Given the description of an element on the screen output the (x, y) to click on. 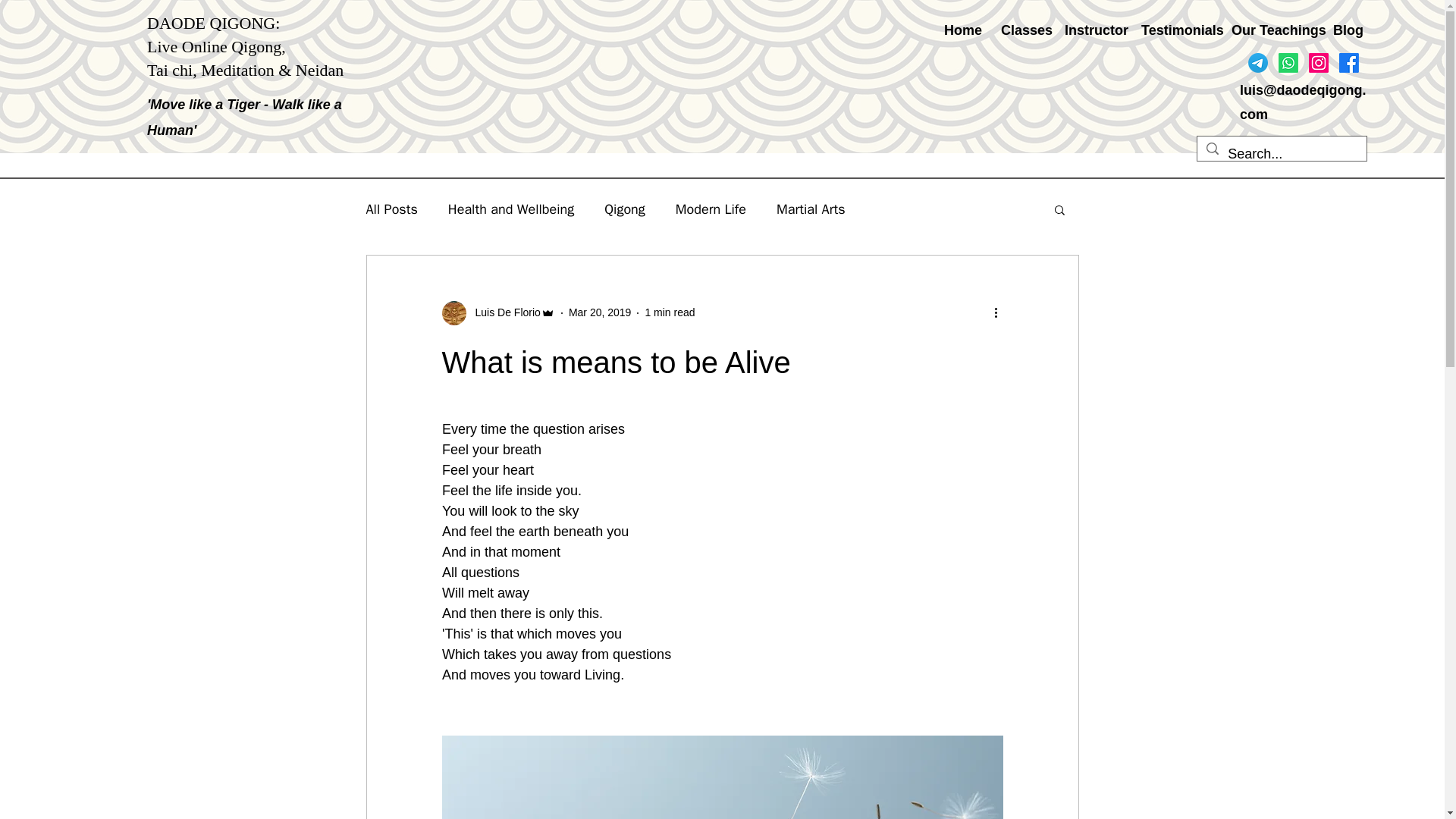
All Posts (390, 208)
Qigong (624, 208)
DAODE QIGONG: (213, 22)
1 min read (669, 312)
Instructor (1090, 30)
Luis De Florio (502, 312)
Live Online Qigong, (216, 46)
Luis De Florio (497, 312)
Mar 20, 2019 (600, 312)
Blog (1345, 30)
Home (961, 30)
Modern Life (710, 208)
Health and Wellbeing (510, 208)
Martial Arts (810, 208)
Testimonials (1174, 30)
